Given the description of an element on the screen output the (x, y) to click on. 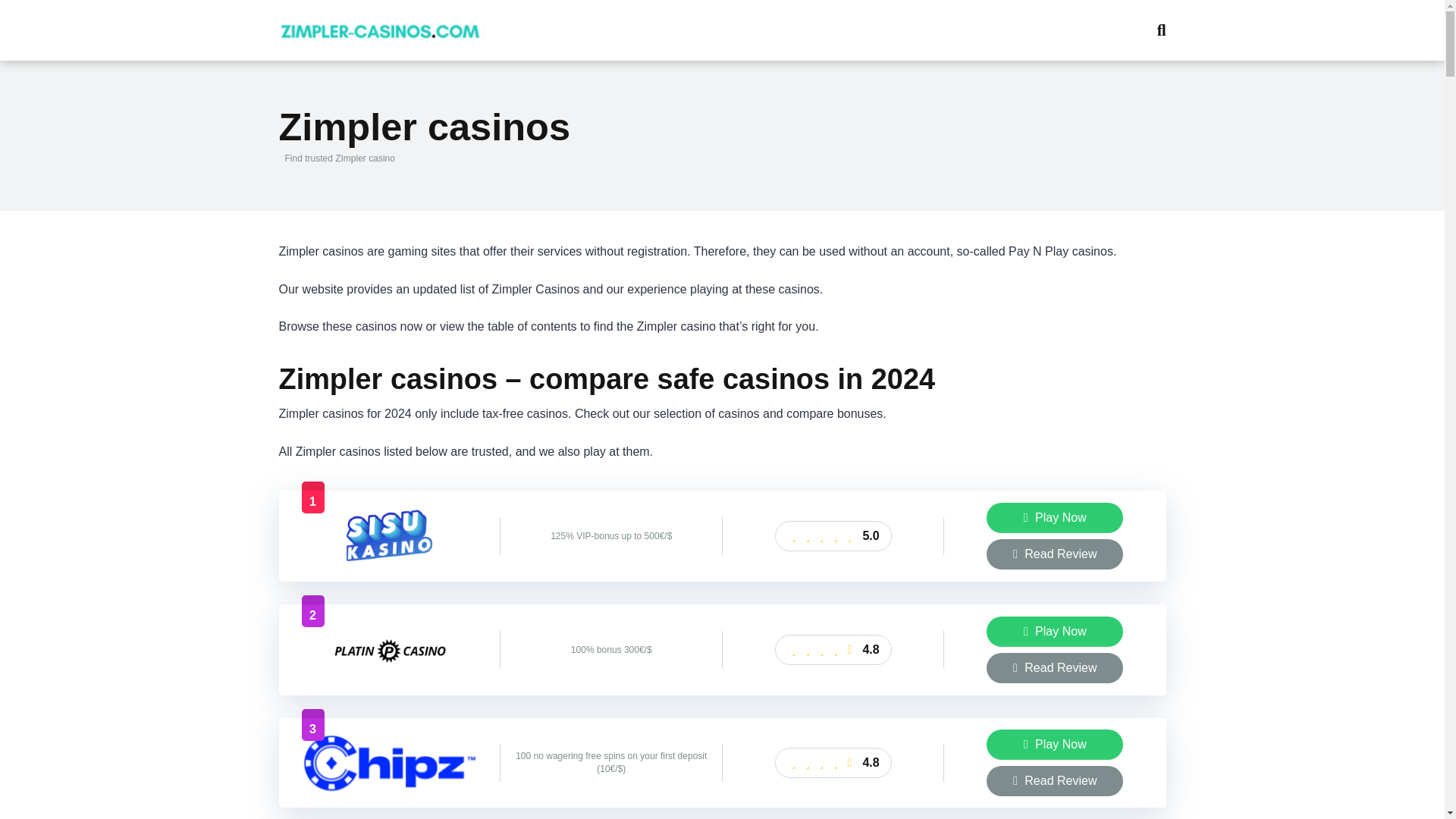
Play Now (1054, 517)
Read Review (1054, 780)
Sisukasino (390, 562)
Chipz (390, 788)
Play Now (1054, 744)
Read Review (1054, 667)
Play Now (1054, 631)
Play Now (1054, 744)
Play Now (1054, 517)
Read Review (1054, 553)
Zimpler casinos (381, 24)
Read Review (1054, 780)
Play Now (1054, 631)
Read Review (1054, 553)
Read Review (1054, 667)
